Given the description of an element on the screen output the (x, y) to click on. 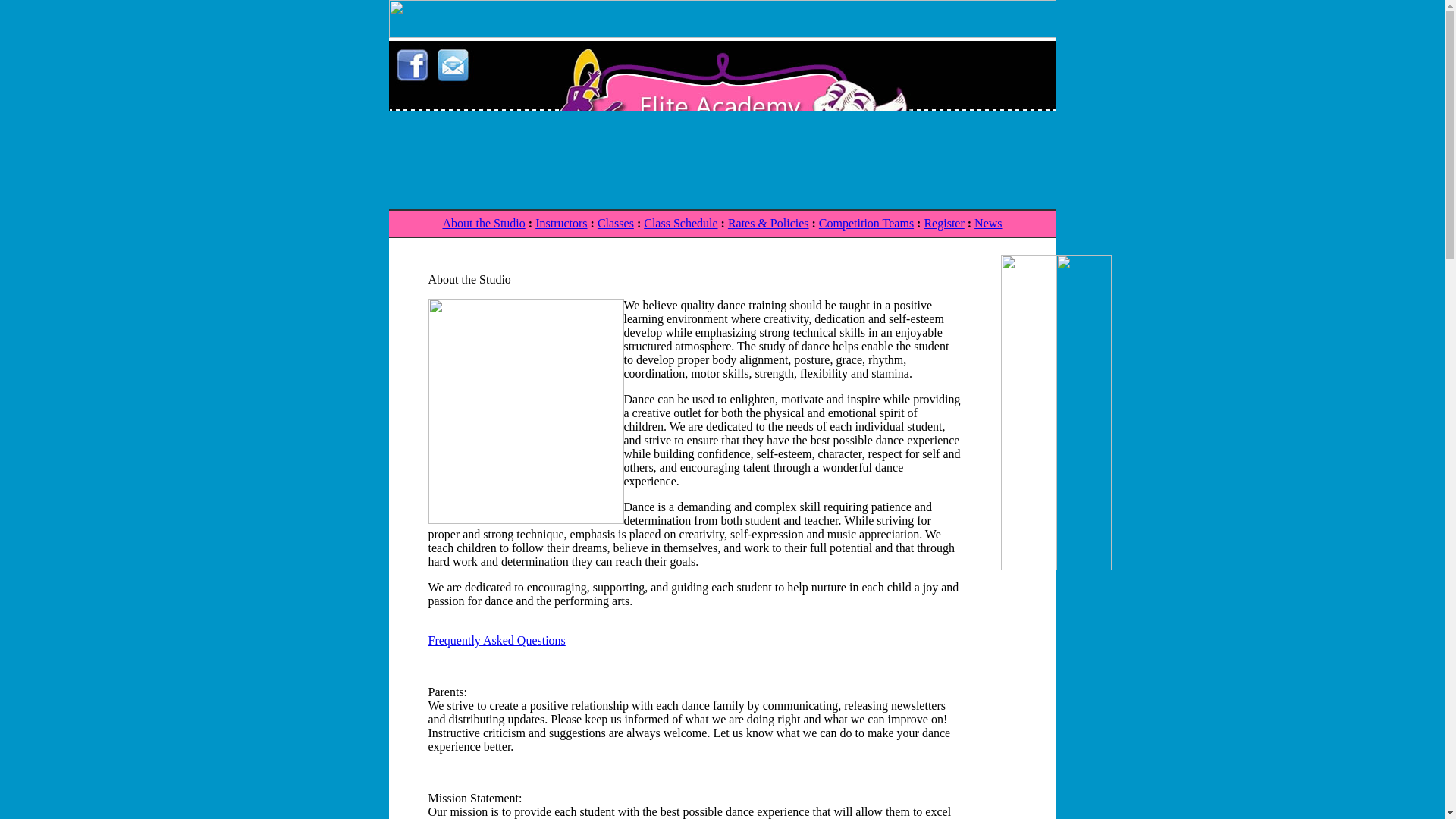
Classes (614, 223)
About the Studio (483, 223)
Class Schedule (680, 223)
Instructors (560, 223)
Competition Teams (866, 223)
News (987, 223)
Frequently Asked Questions (496, 640)
Register (943, 223)
